Given the description of an element on the screen output the (x, y) to click on. 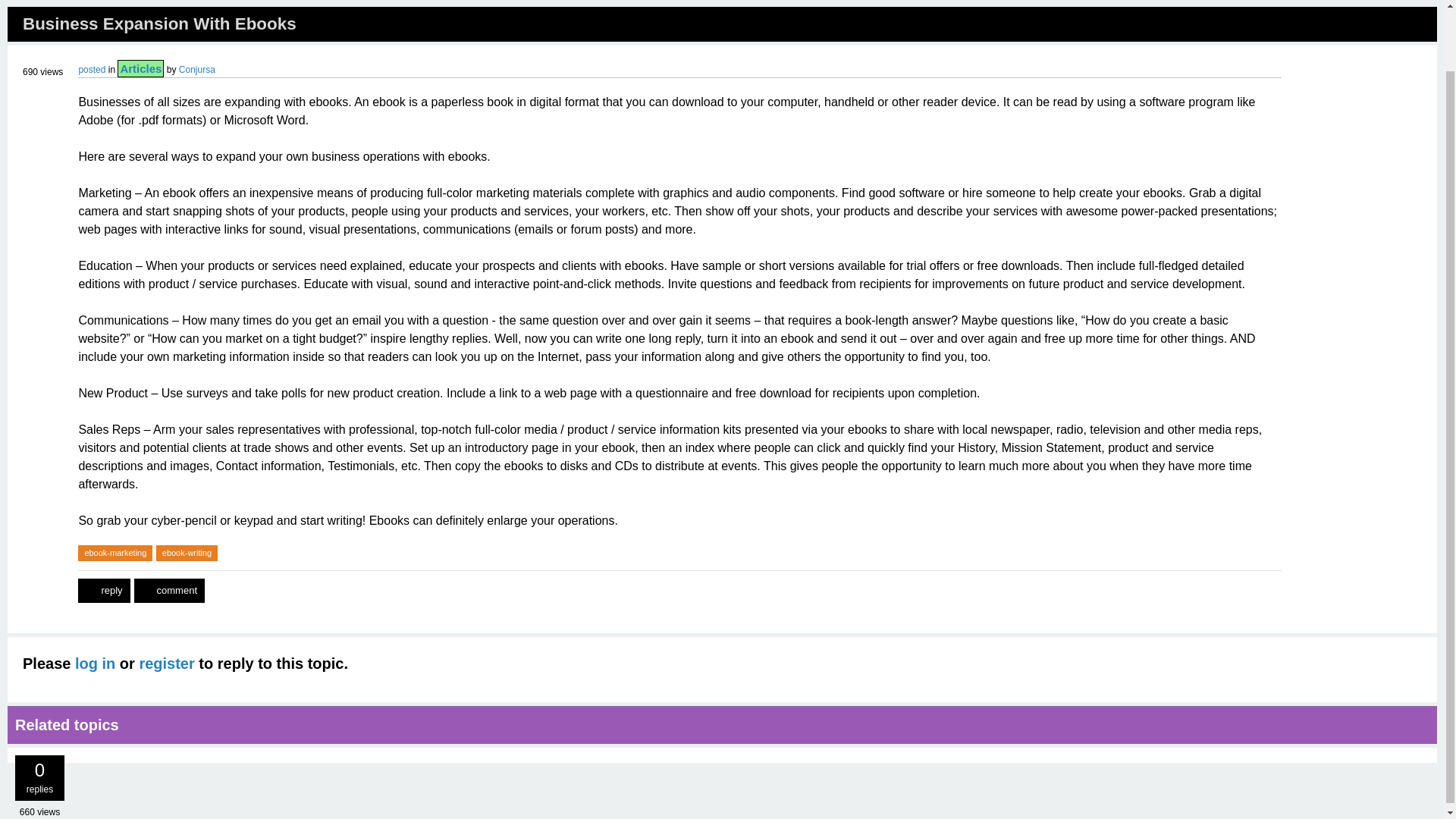
reply to this topic (103, 590)
Business Expansion With Ebooks (160, 23)
Articles (140, 68)
Conjursa (197, 69)
comment (169, 590)
register (165, 663)
ebook-marketing (115, 553)
posted (91, 69)
Add a comment on this topic (169, 590)
ebook-writing (185, 553)
